Given the description of an element on the screen output the (x, y) to click on. 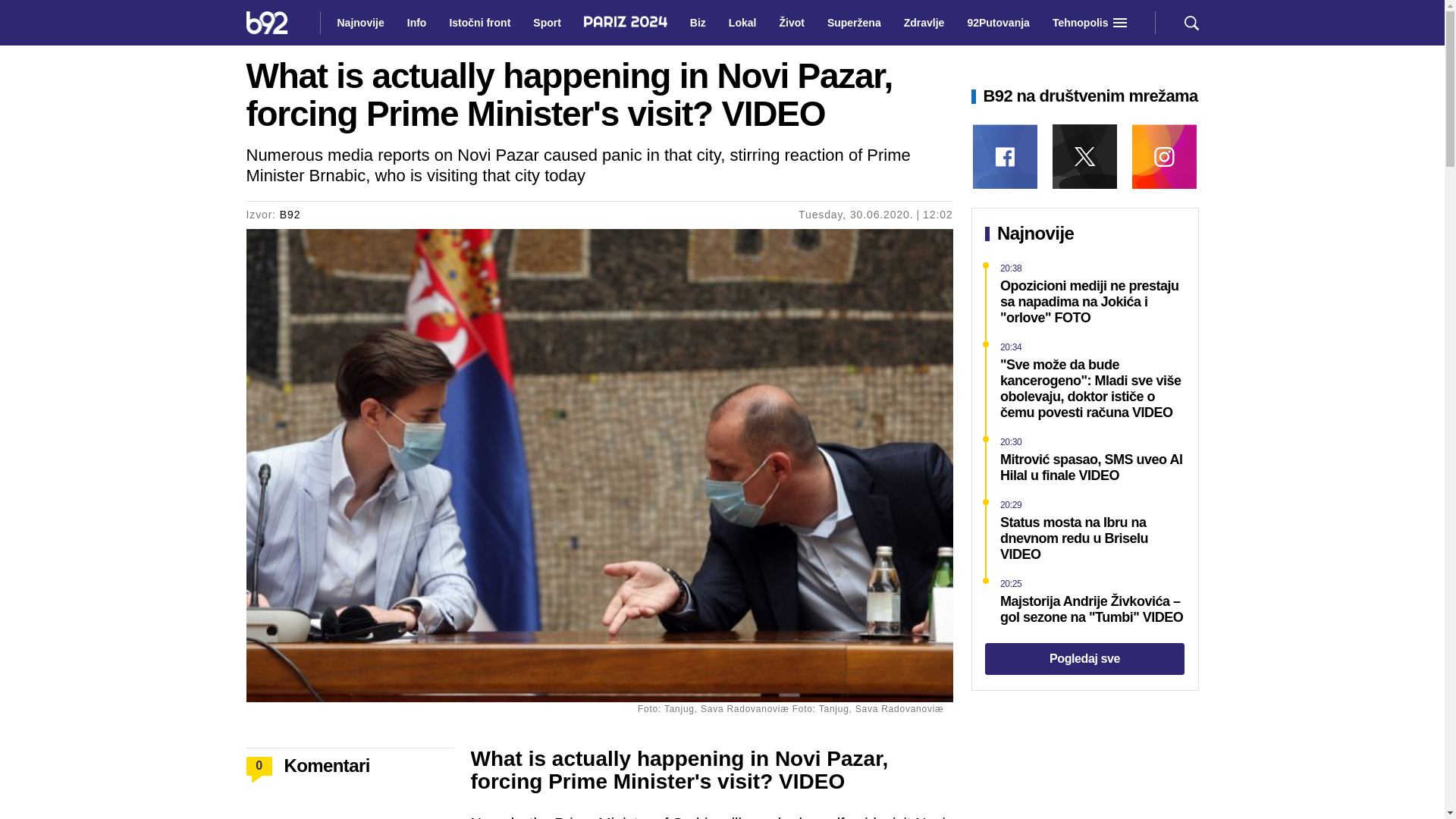
Najnovije (360, 22)
Sport (547, 22)
Tehnopolis (1080, 22)
92Putovanja (997, 22)
Lokal (742, 22)
Zdravlje (924, 22)
